Given the description of an element on the screen output the (x, y) to click on. 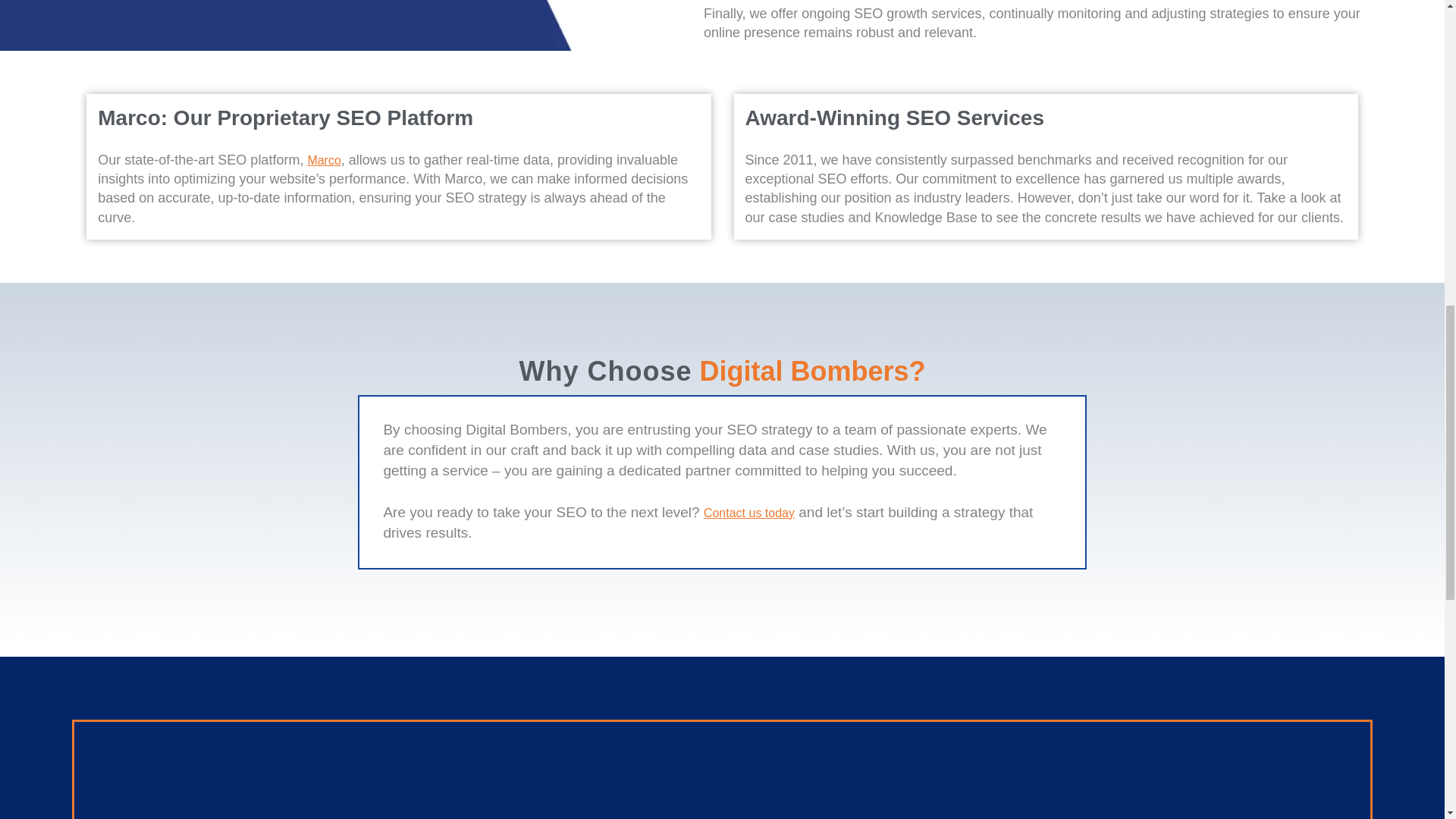
Marco (323, 160)
Contact us today (748, 512)
Recon by Marco (323, 160)
